Given the description of an element on the screen output the (x, y) to click on. 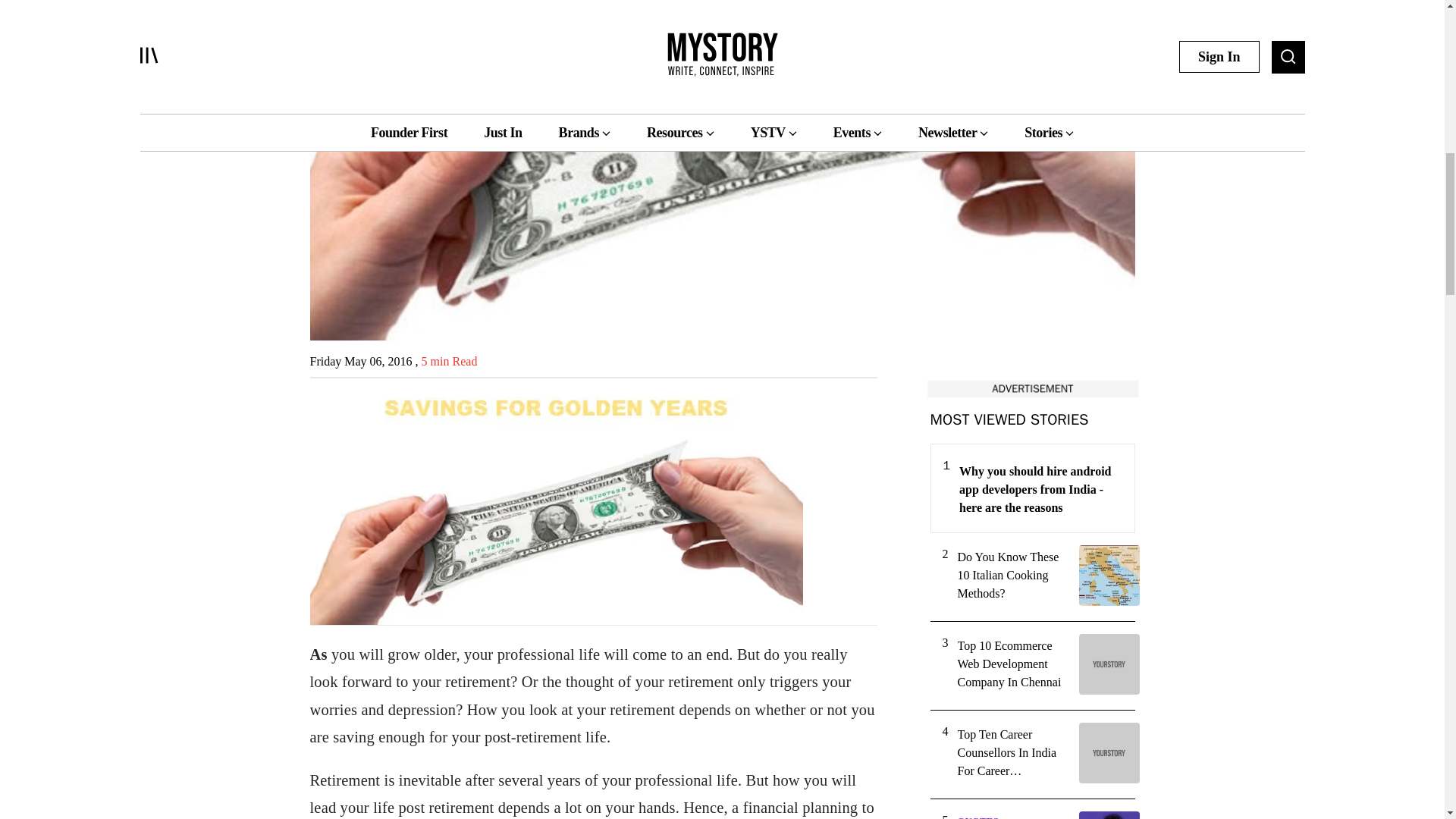
Top 10 Ecommerce Web Development Company In Chennai (1012, 664)
Advertise with us (1032, 388)
Do You Know These 10 Italian Cooking Methods? (1012, 574)
